Given the description of an element on the screen output the (x, y) to click on. 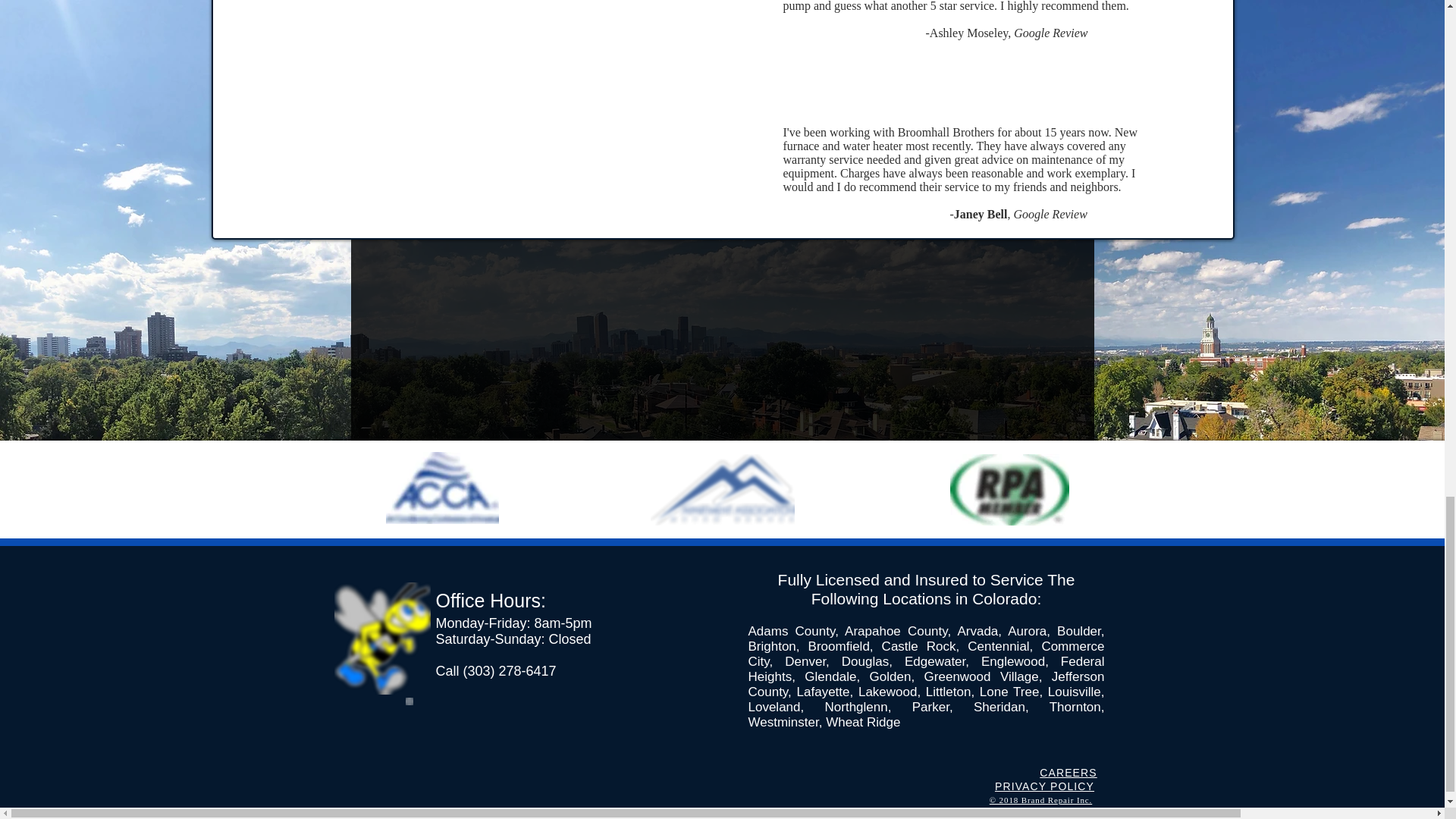
PRIVACY POLICY (1044, 786)
CAREERS (1068, 772)
